Given the description of an element on the screen output the (x, y) to click on. 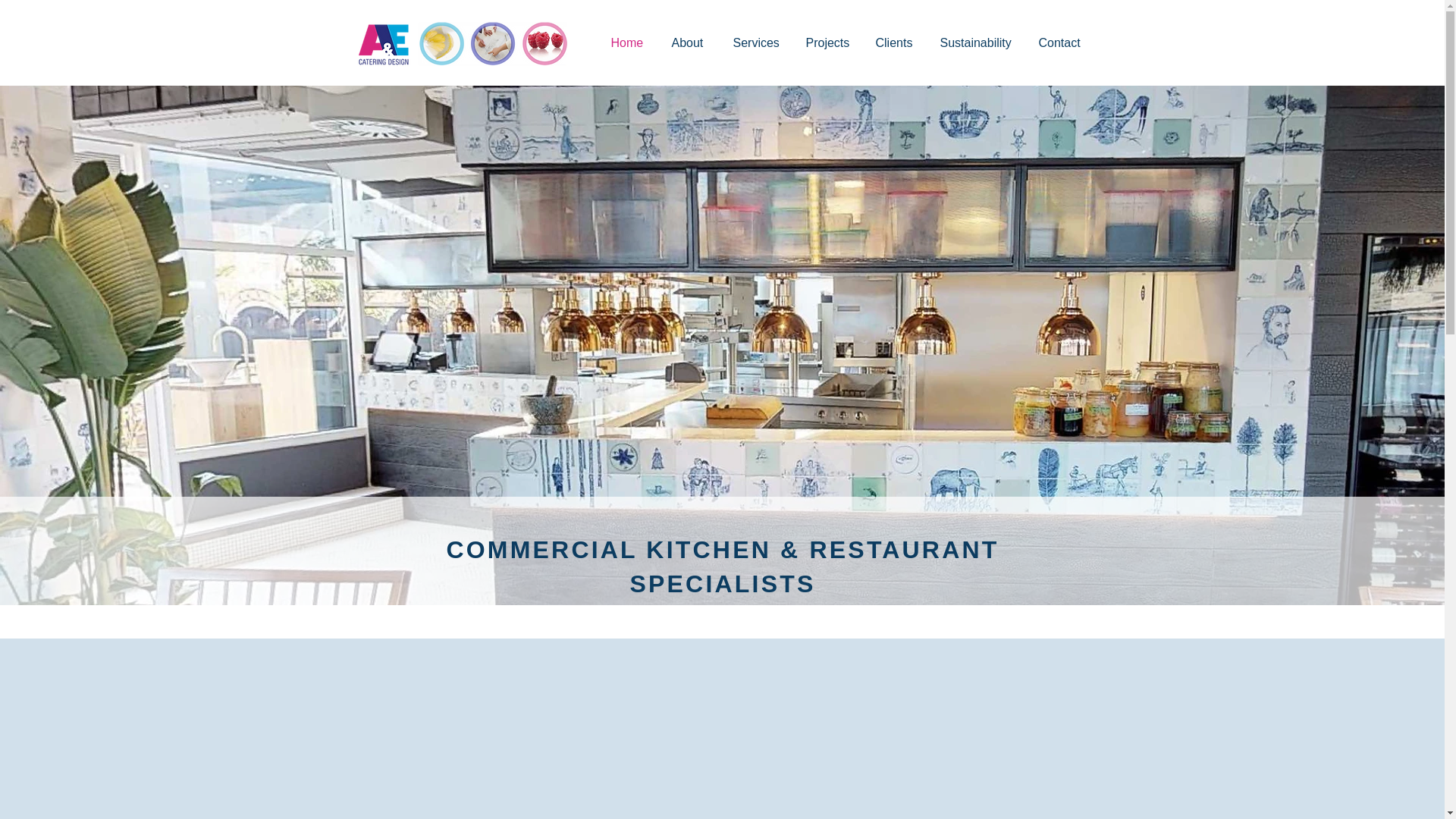
Projects (825, 42)
Contact (1058, 42)
Home (625, 42)
About (686, 42)
Services (753, 42)
Clients (892, 42)
Sustainability (973, 42)
